Given the description of an element on the screen output the (x, y) to click on. 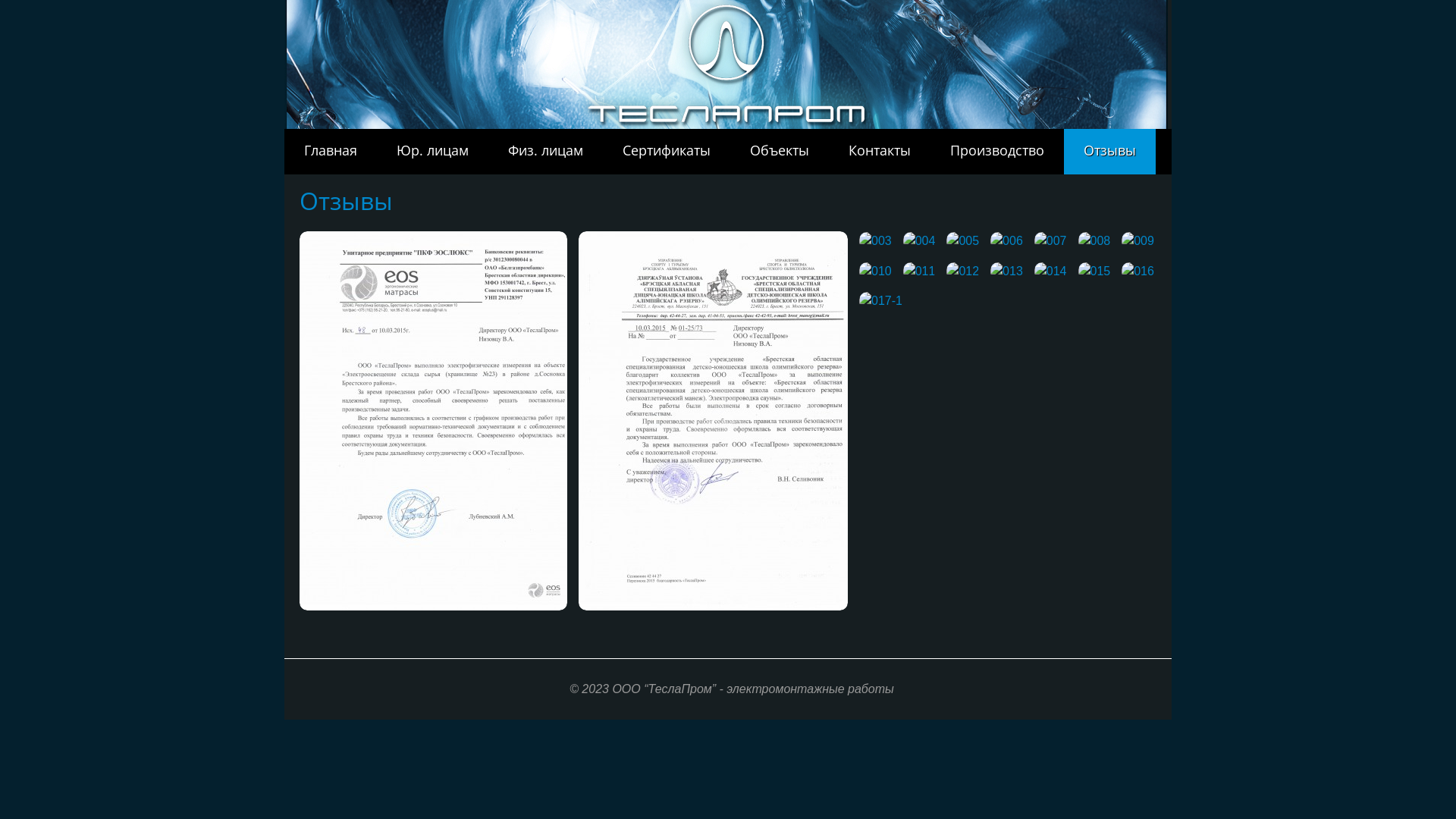
008 Element type: hover (1094, 240)
009 Element type: hover (1137, 240)
010 Element type: hover (875, 270)
015 Element type: hover (1094, 270)
016 Element type: hover (1137, 270)
001 Element type: hover (433, 420)
017-1 Element type: hover (880, 300)
012 Element type: hover (962, 270)
013 Element type: hover (1006, 270)
004 Element type: hover (919, 240)
003 Element type: hover (875, 240)
011 Element type: hover (919, 270)
005 Element type: hover (962, 240)
006 Element type: hover (1006, 240)
007 Element type: hover (1050, 240)
002 Element type: hover (712, 420)
014 Element type: hover (1050, 270)
